Given the description of an element on the screen output the (x, y) to click on. 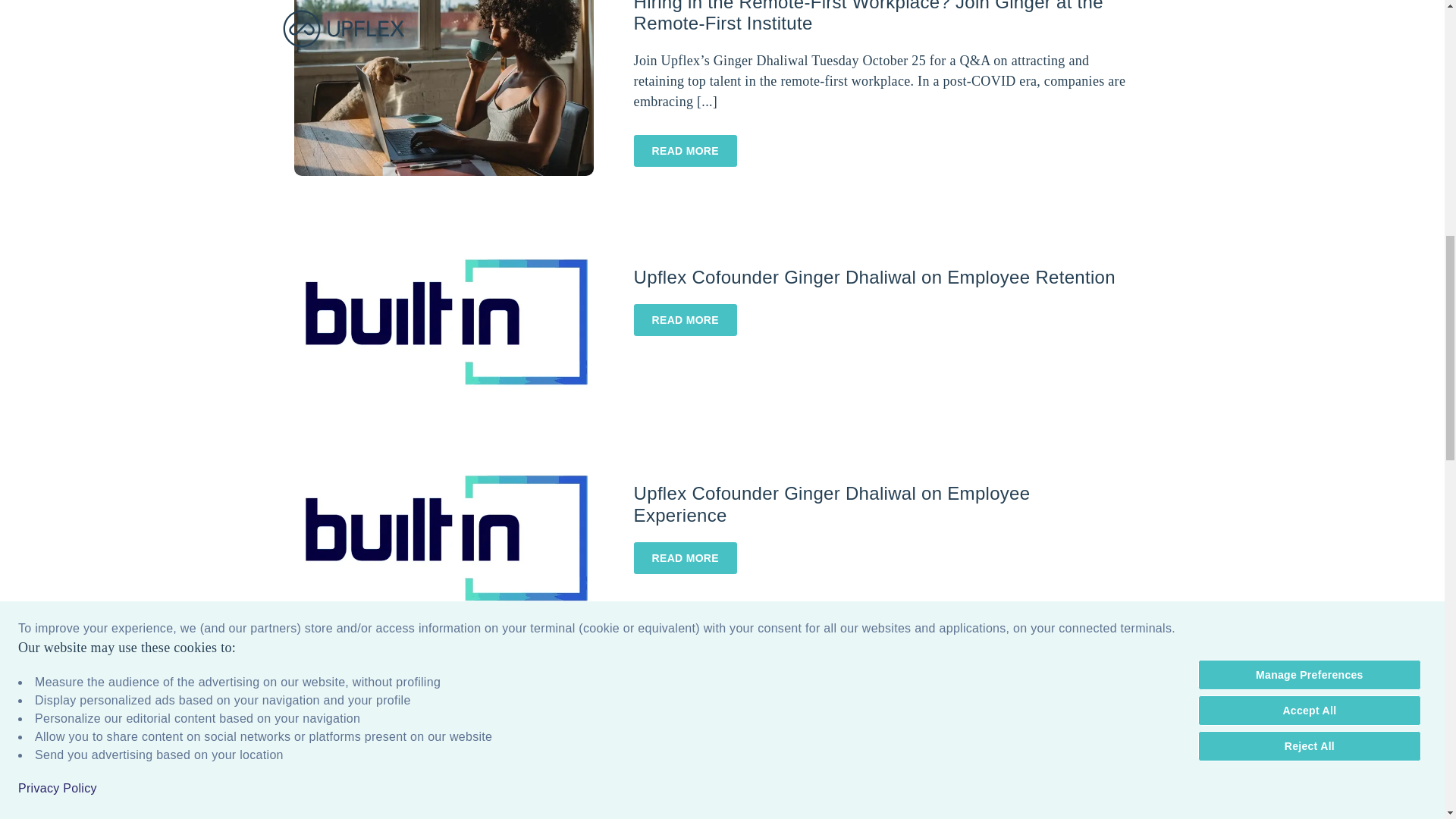
READ MORE (684, 151)
READ MORE (684, 319)
READ MORE (684, 151)
A Guide to HR Tech for Effective People Teams (829, 709)
READ MORE (684, 752)
READ MORE (684, 752)
Upflex Cofounder Ginger Dhaliwal on Employee Experience (831, 504)
Upflex Cofounder Ginger Dhaliwal on Employee Experience (444, 536)
Upflex Cofounder Ginger Dhaliwal on Employee Retention (444, 320)
READ MORE (684, 319)
READ MORE (684, 558)
Upflex Cofounder Ginger Dhaliwal on Employee Retention (444, 321)
READ MORE (684, 558)
